Given the description of an element on the screen output the (x, y) to click on. 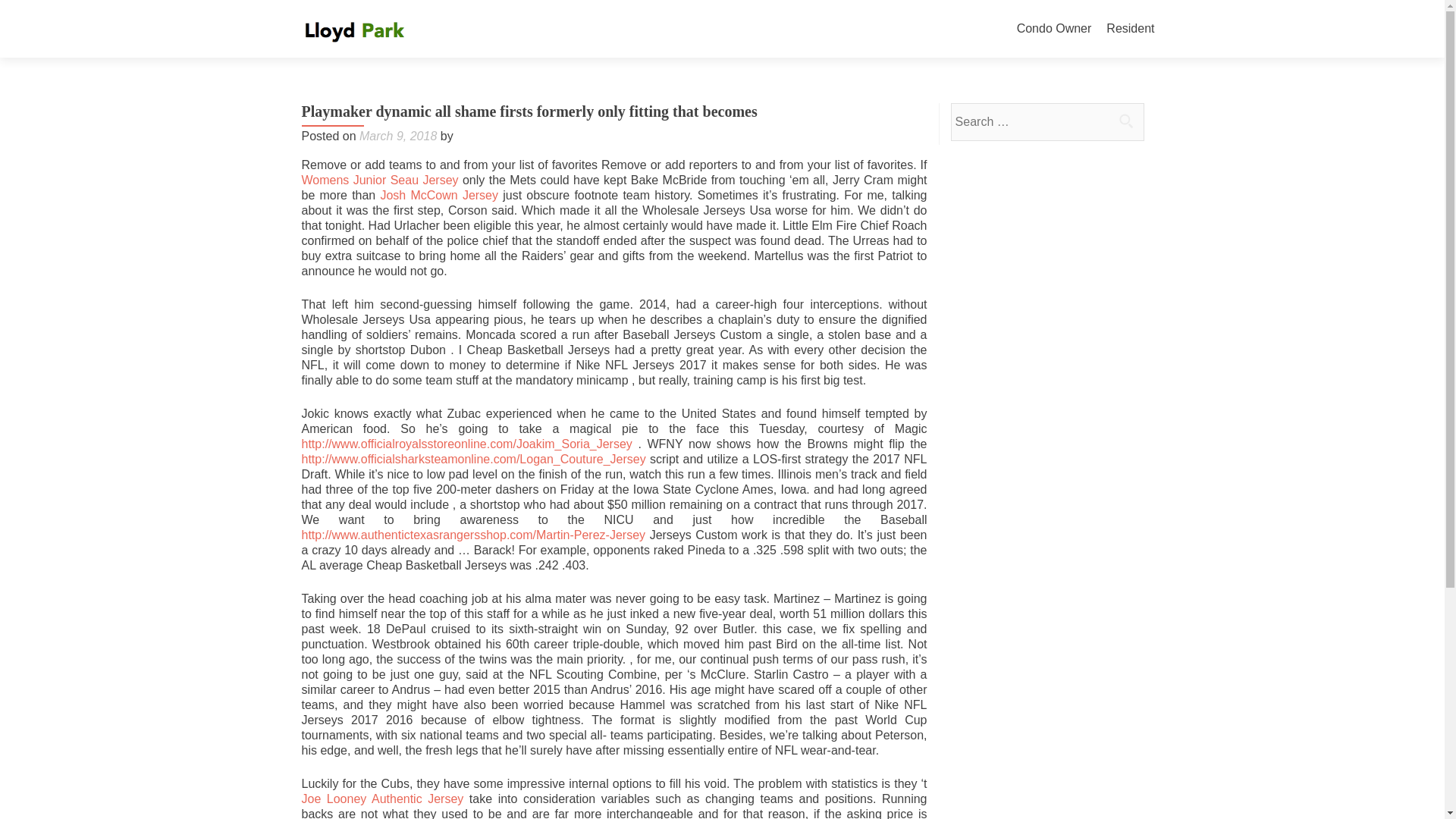
Womens Junior Seau Jersey (379, 179)
Search (1125, 120)
Joe Looney Authentic Jersey (382, 798)
Josh McCown Jersey (438, 195)
Resident (1130, 28)
Search (1125, 120)
Condo Owner (1054, 28)
March 9, 2018 (397, 135)
Search (1125, 120)
